Given the description of an element on the screen output the (x, y) to click on. 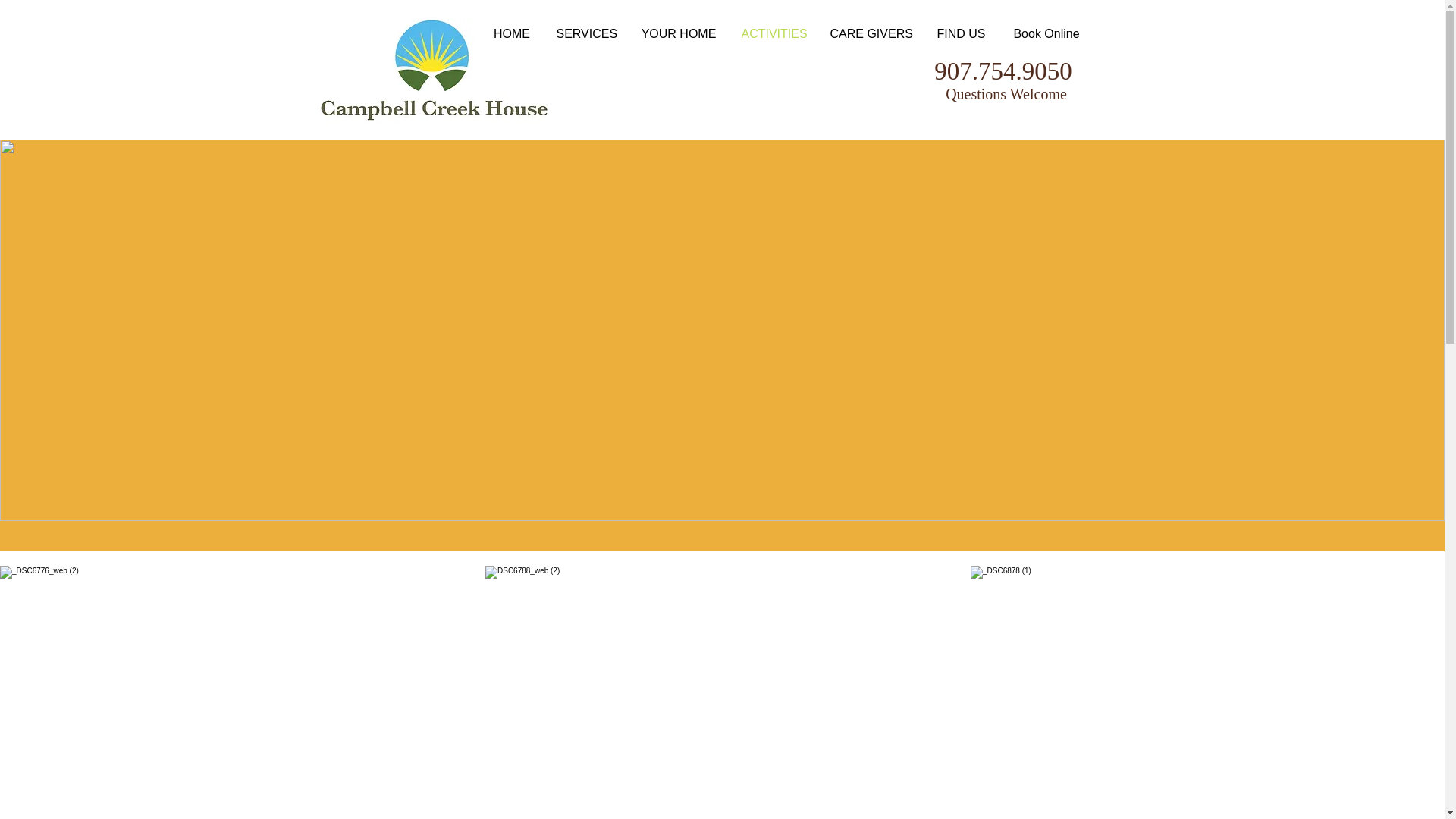
YOUR HOME (678, 33)
SERVICES (585, 33)
CARE GIVERS (870, 33)
ACTIVITIES (773, 33)
Book Online (1046, 33)
HOME (511, 33)
FIND US (960, 33)
